Given the description of an element on the screen output the (x, y) to click on. 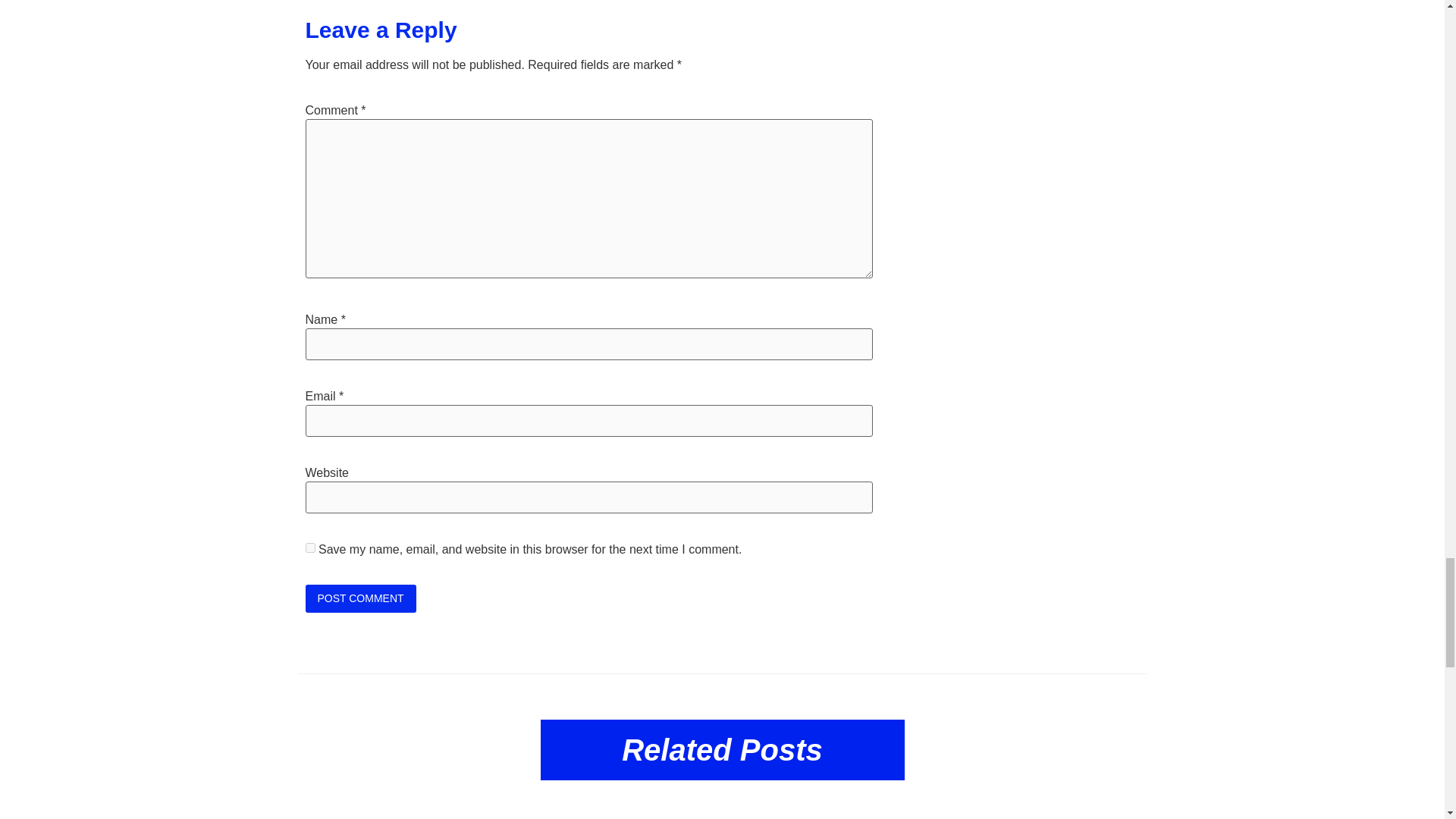
Post Comment (359, 598)
Post Comment (359, 598)
yes (309, 547)
